Given the description of an element on the screen output the (x, y) to click on. 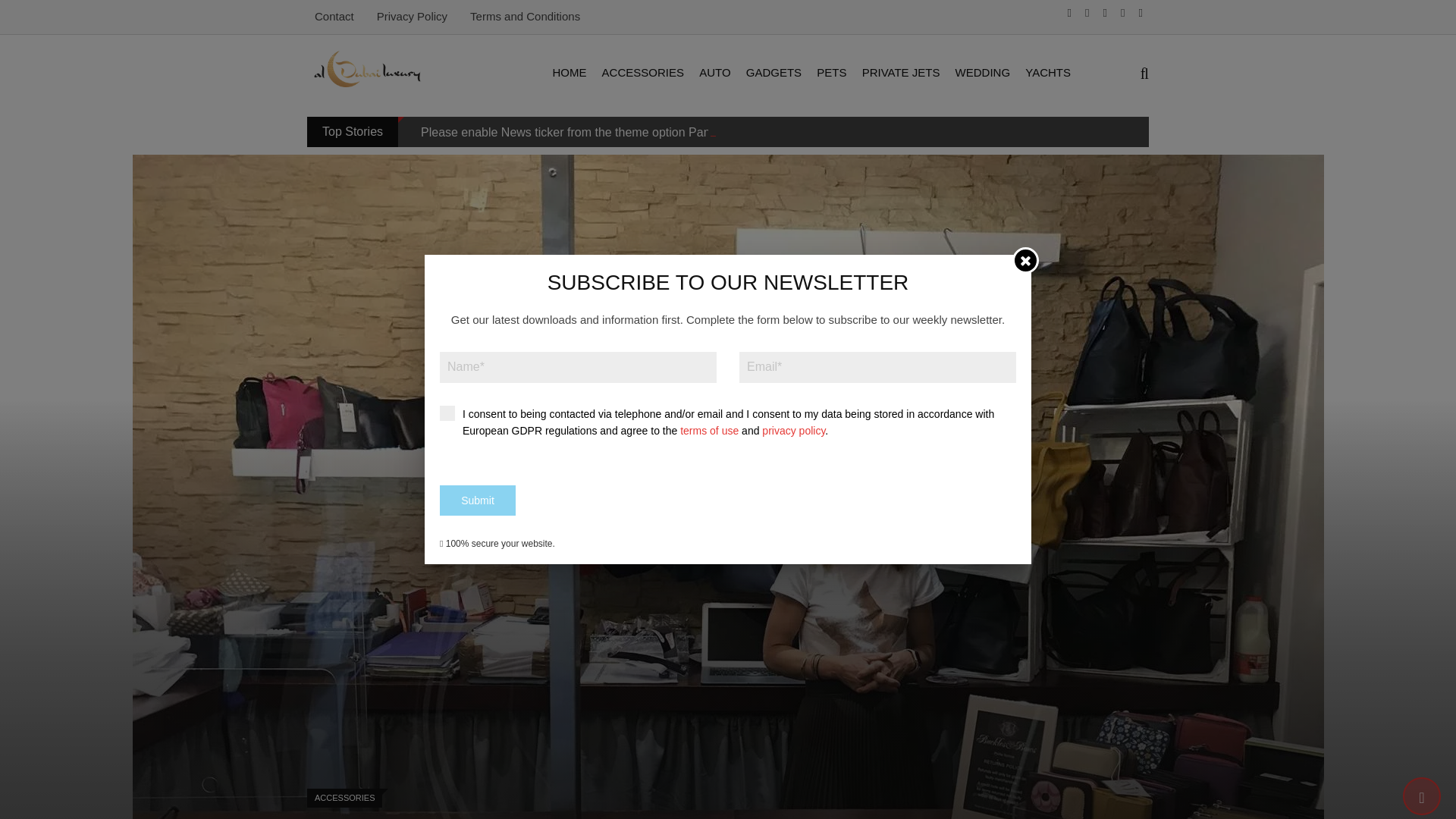
ACCESSORIES (642, 72)
GADGETS (773, 72)
Privacy Policy (411, 15)
PRIVATE JETS (901, 72)
Contact (333, 15)
Terms and Conditions (524, 15)
WEDDING (982, 72)
